Given the description of an element on the screen output the (x, y) to click on. 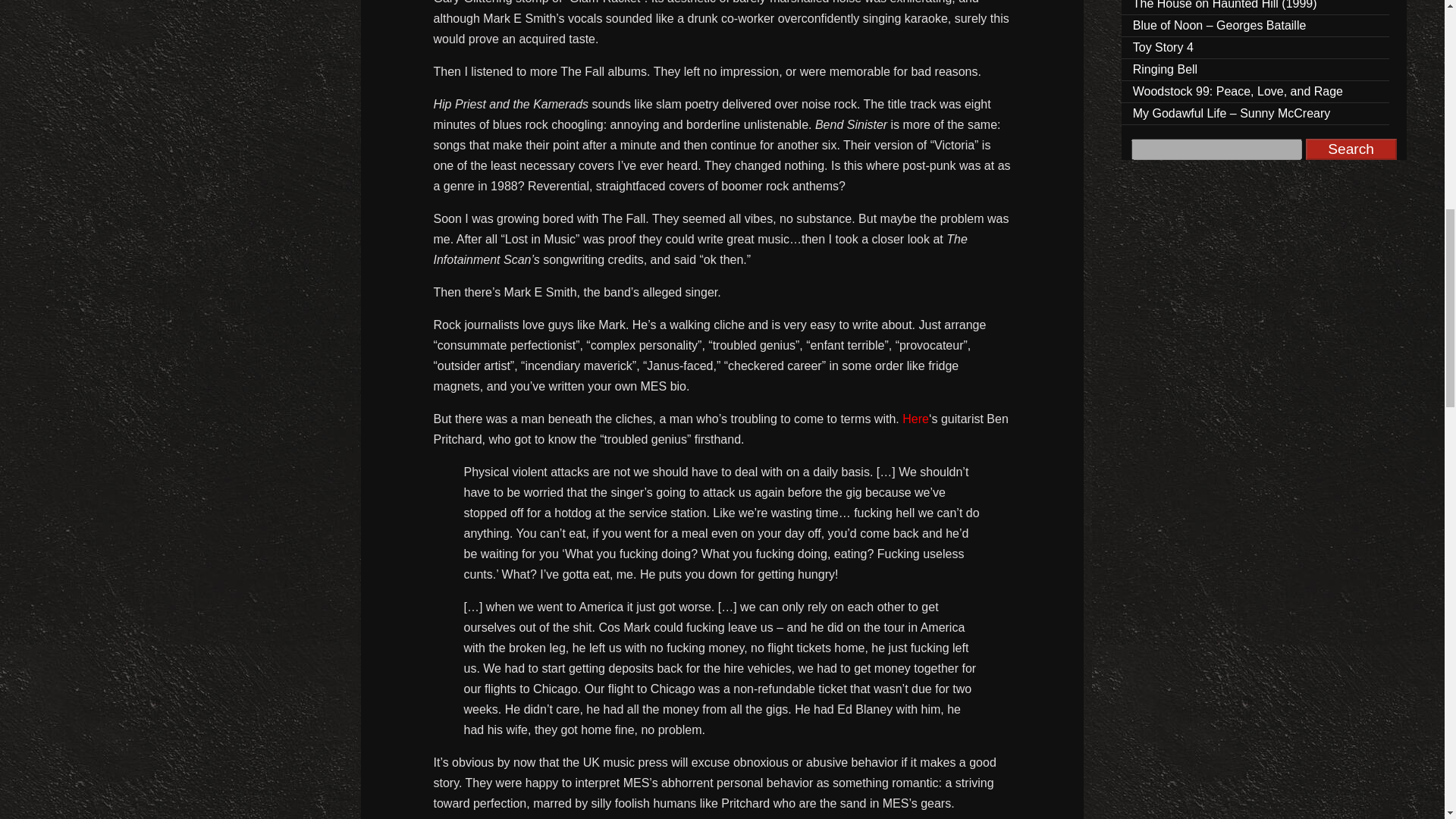
Ringing Bell (1255, 69)
Search (1351, 148)
Search (1351, 148)
He (909, 418)
Woodstock 99: Peace, Love, and Rage (1255, 92)
re (923, 418)
Toy Story 4 (1255, 47)
